Given the description of an element on the screen output the (x, y) to click on. 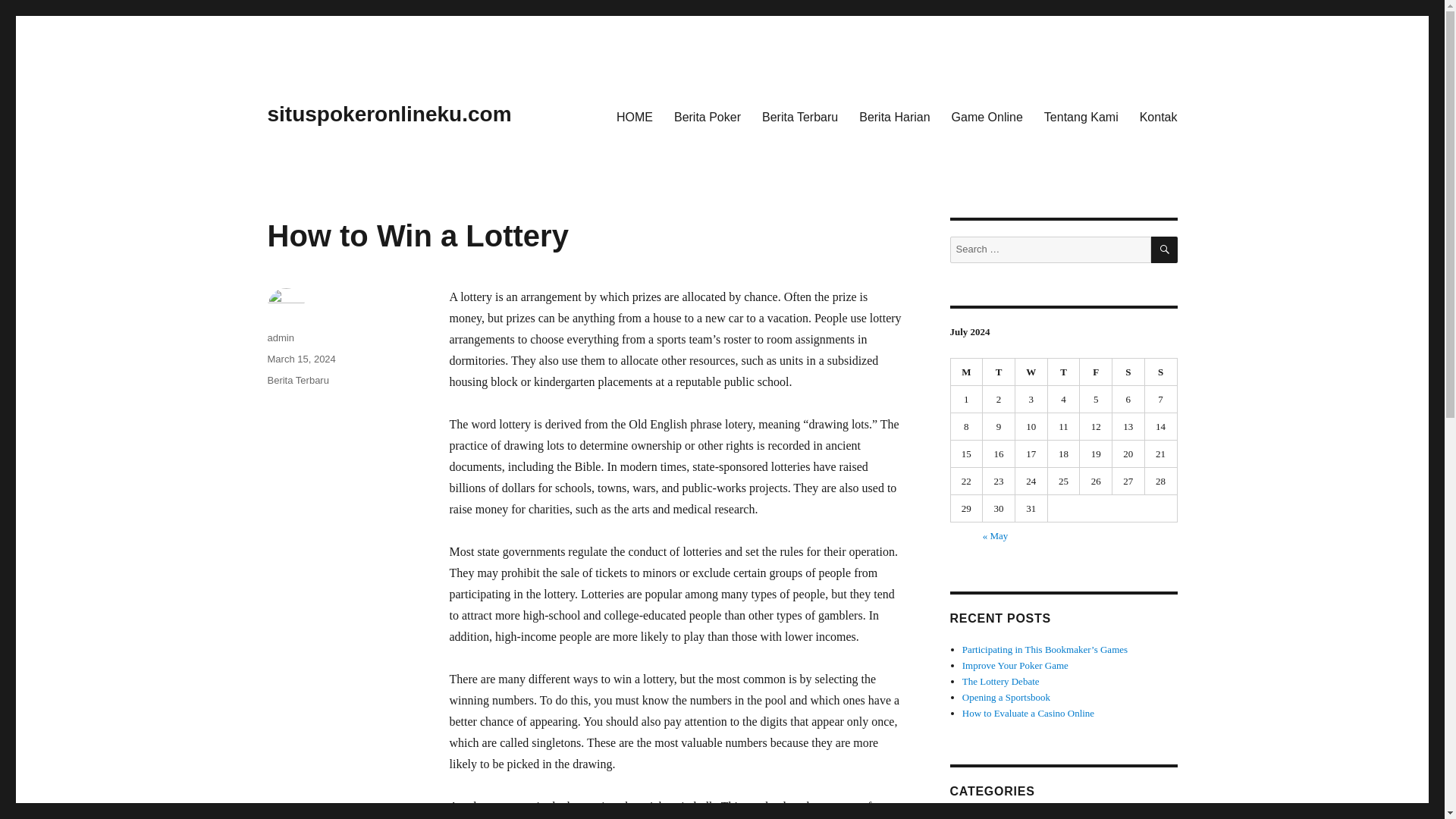
March 15, 2024 (300, 358)
Sunday (1160, 371)
SEARCH (1164, 249)
Tuesday (998, 371)
situspokeronlineku.com (388, 114)
Berita Terbaru (297, 379)
Monday (967, 371)
Tentang Kami (1081, 116)
Saturday (1128, 371)
The Lottery Debate (1000, 681)
Friday (1096, 371)
Berita Harian (894, 116)
Berita Harian (988, 817)
Kontak (1158, 116)
admin (280, 337)
